Given the description of an element on the screen output the (x, y) to click on. 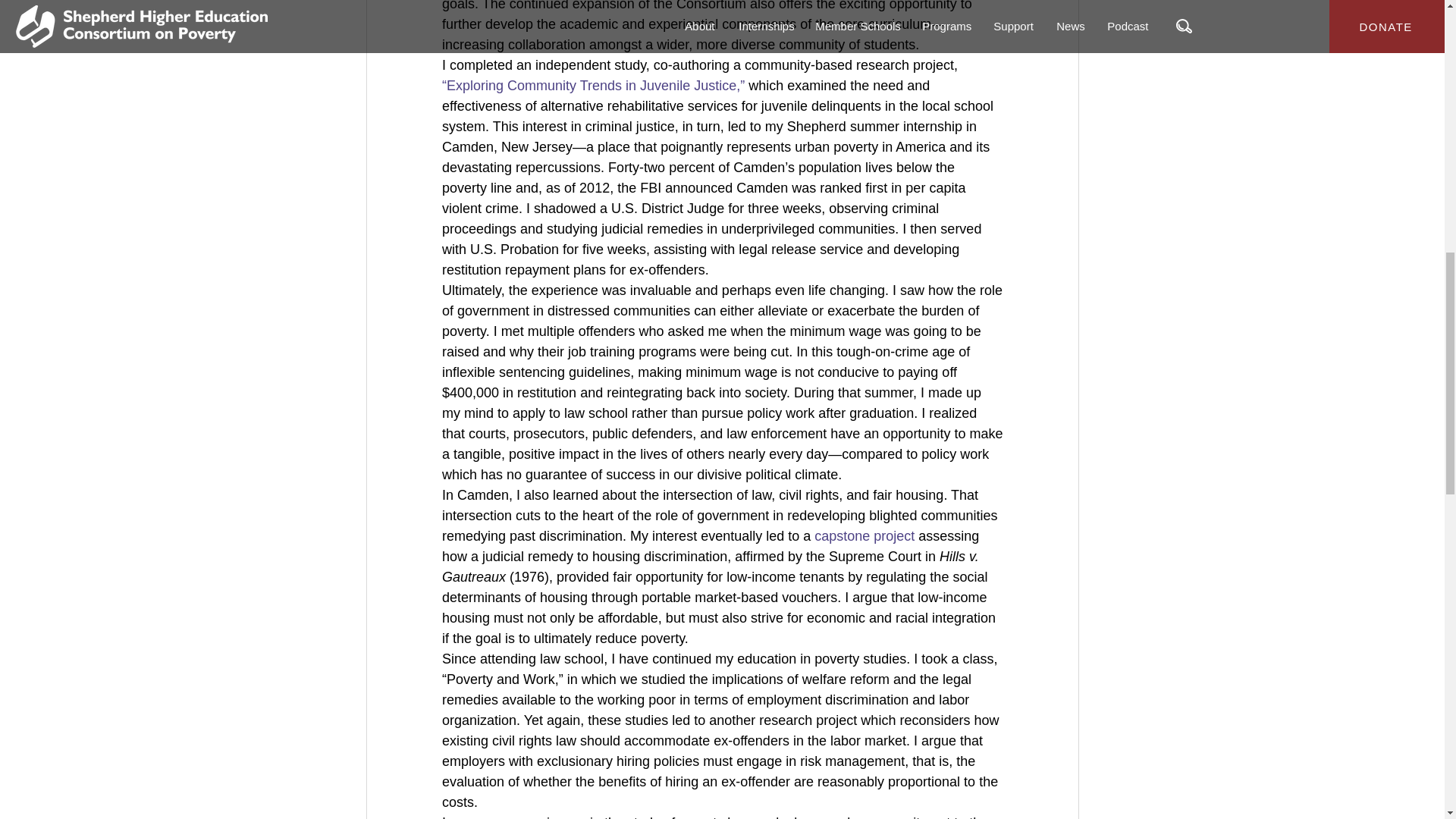
capstone project (863, 535)
